Given the description of an element on the screen output the (x, y) to click on. 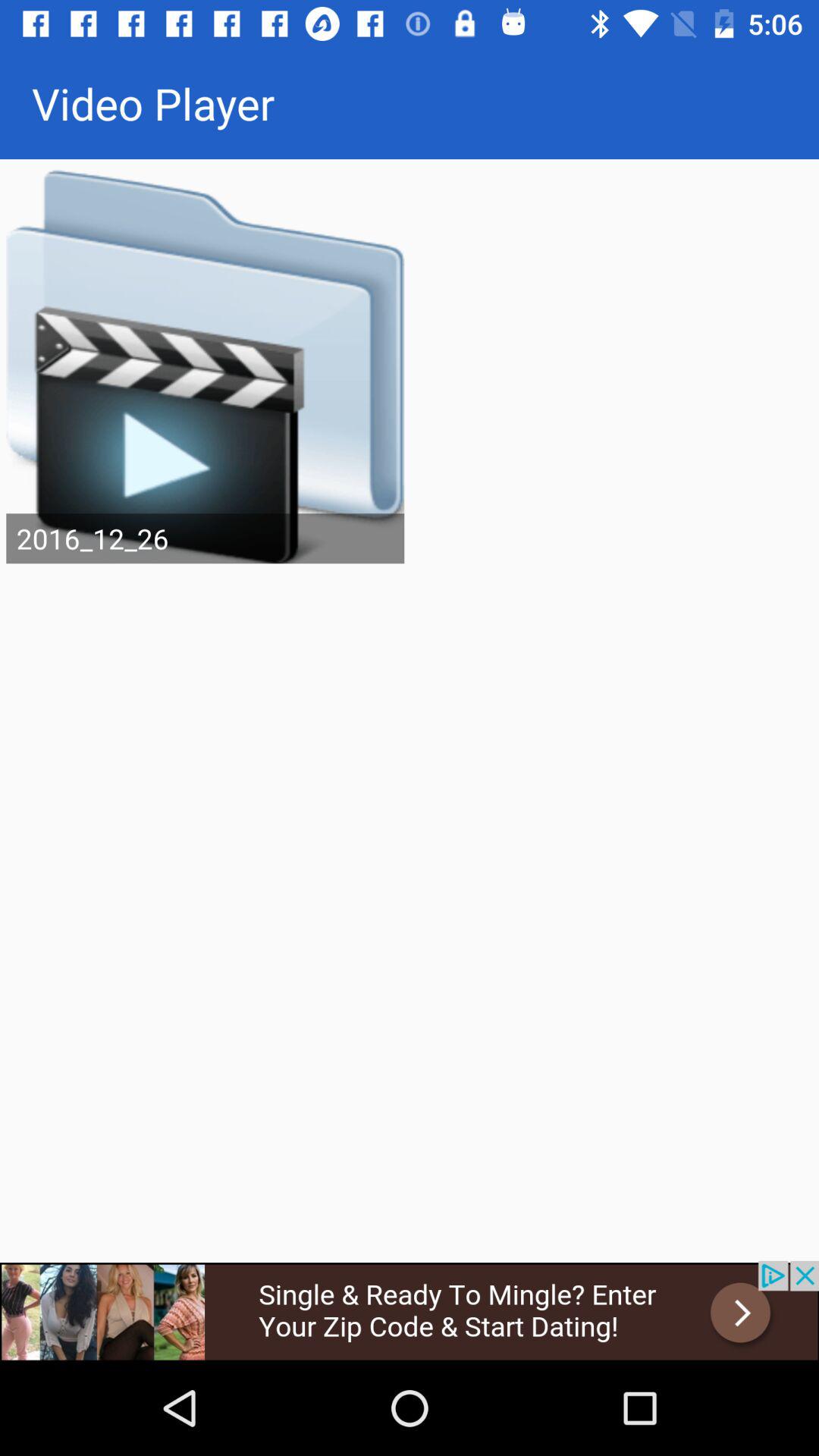
open advertisements website (409, 1310)
